Given the description of an element on the screen output the (x, y) to click on. 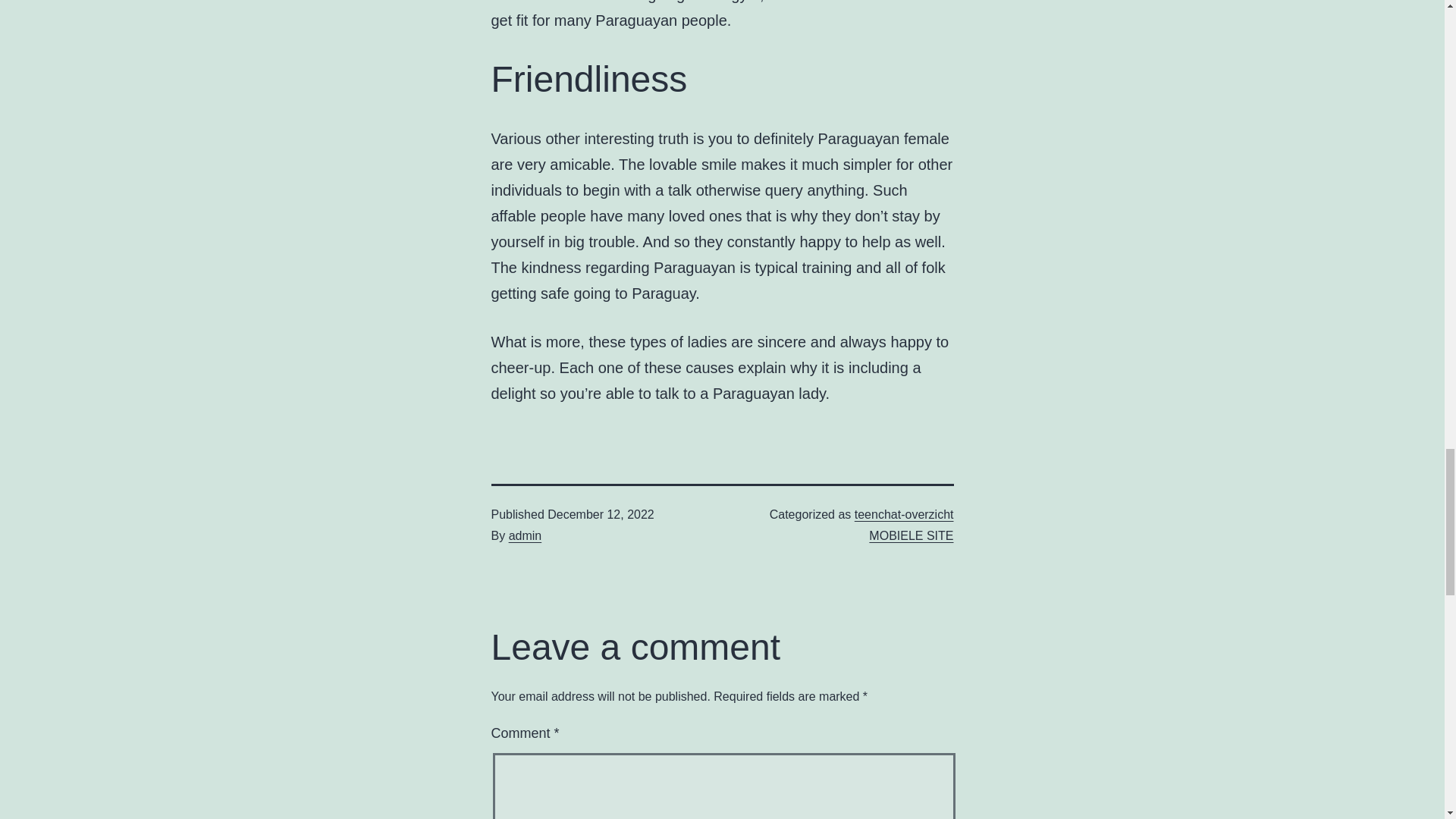
teenchat-overzicht MOBIELE SITE (903, 524)
admin (524, 535)
